Given the description of an element on the screen output the (x, y) to click on. 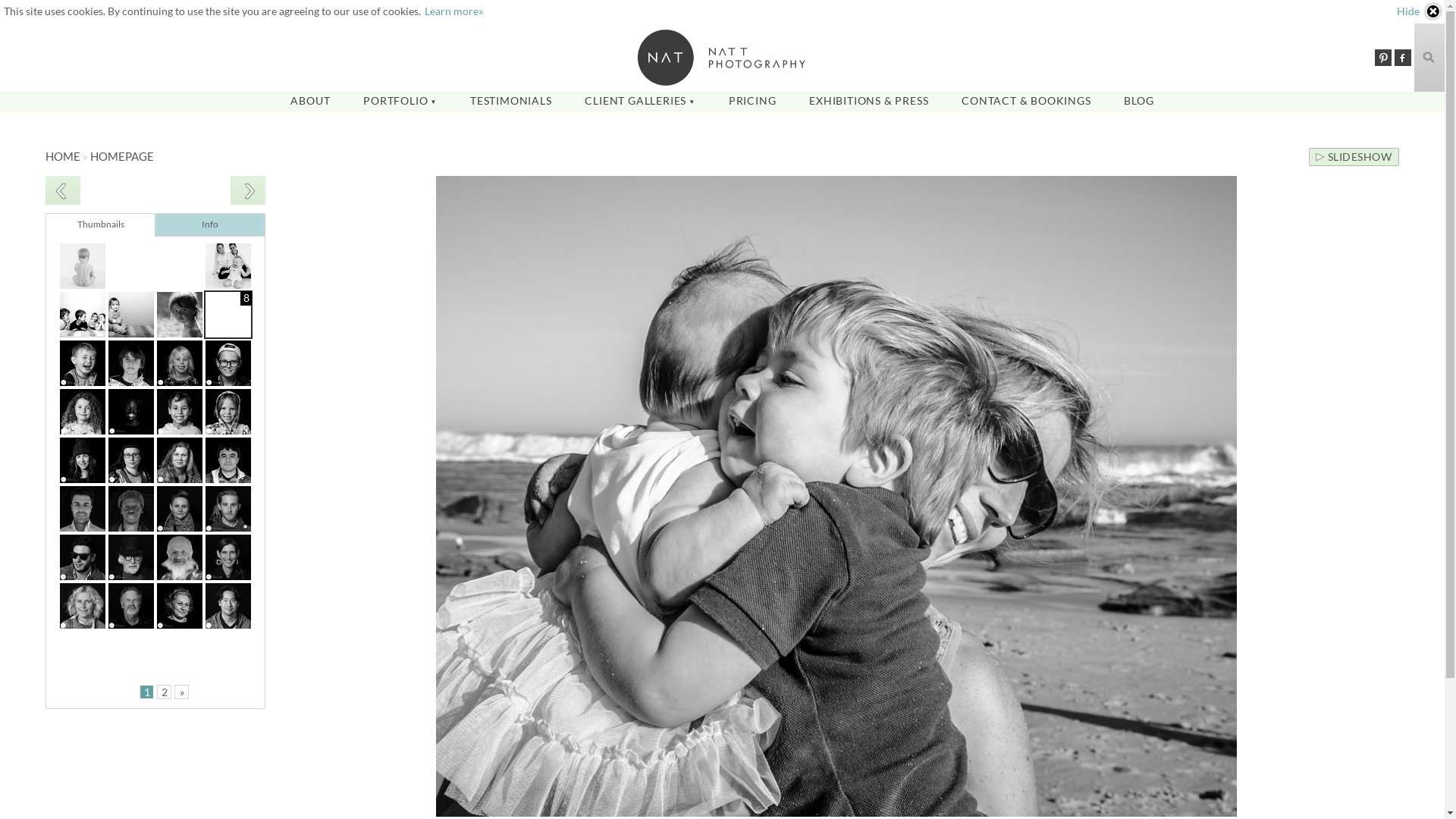
PRICING Element type: text (752, 100)
Next - type Right Arrow Element type: hover (247, 189)
HOME Element type: text (62, 156)
ABOUT Element type: text (310, 100)
Previous - type Left Arrow Element type: hover (62, 189)
EXHIBITIONS & PRESS Element type: text (868, 100)
BLOG Element type: text (1138, 100)
Nat T Photography Element type: hover (721, 57)
1 Element type: text (146, 691)
CONTACT & BOOKINGS Element type: text (1025, 100)
Hide Element type: text (1419, 11)
HOMEPAGE Element type: text (121, 156)
TESTIMONIALS Element type: text (511, 100)
8 Element type: text (228, 314)
2 Element type: text (163, 691)
